Given the description of an element on the screen output the (x, y) to click on. 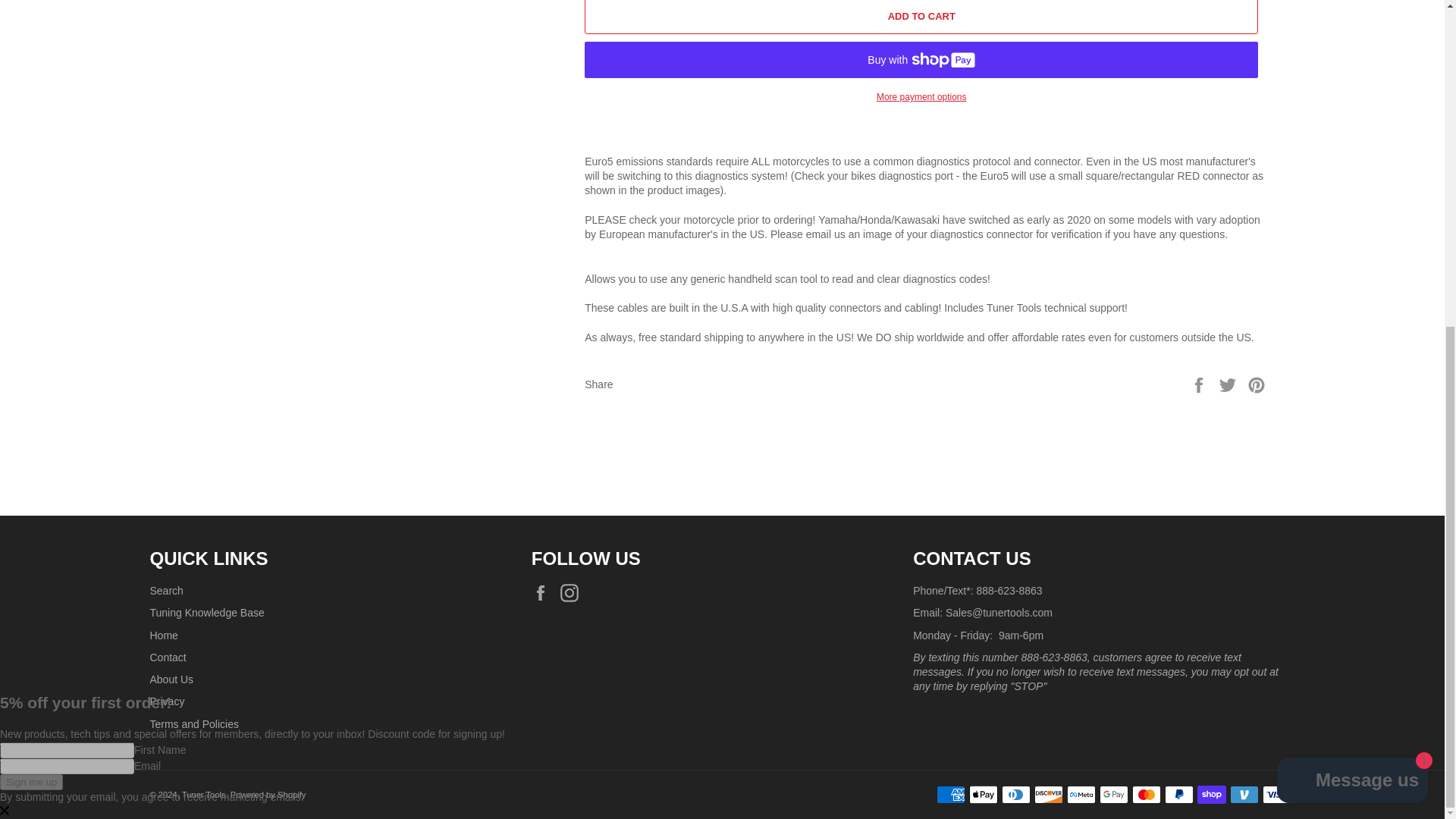
Share on Facebook (1200, 384)
Shopify online store chat (1352, 243)
Pin on Pinterest (1256, 384)
Tuner Tools on Instagram (573, 592)
Tuner Tools on Facebook (544, 592)
Tweet on Twitter (1229, 384)
